Given the description of an element on the screen output the (x, y) to click on. 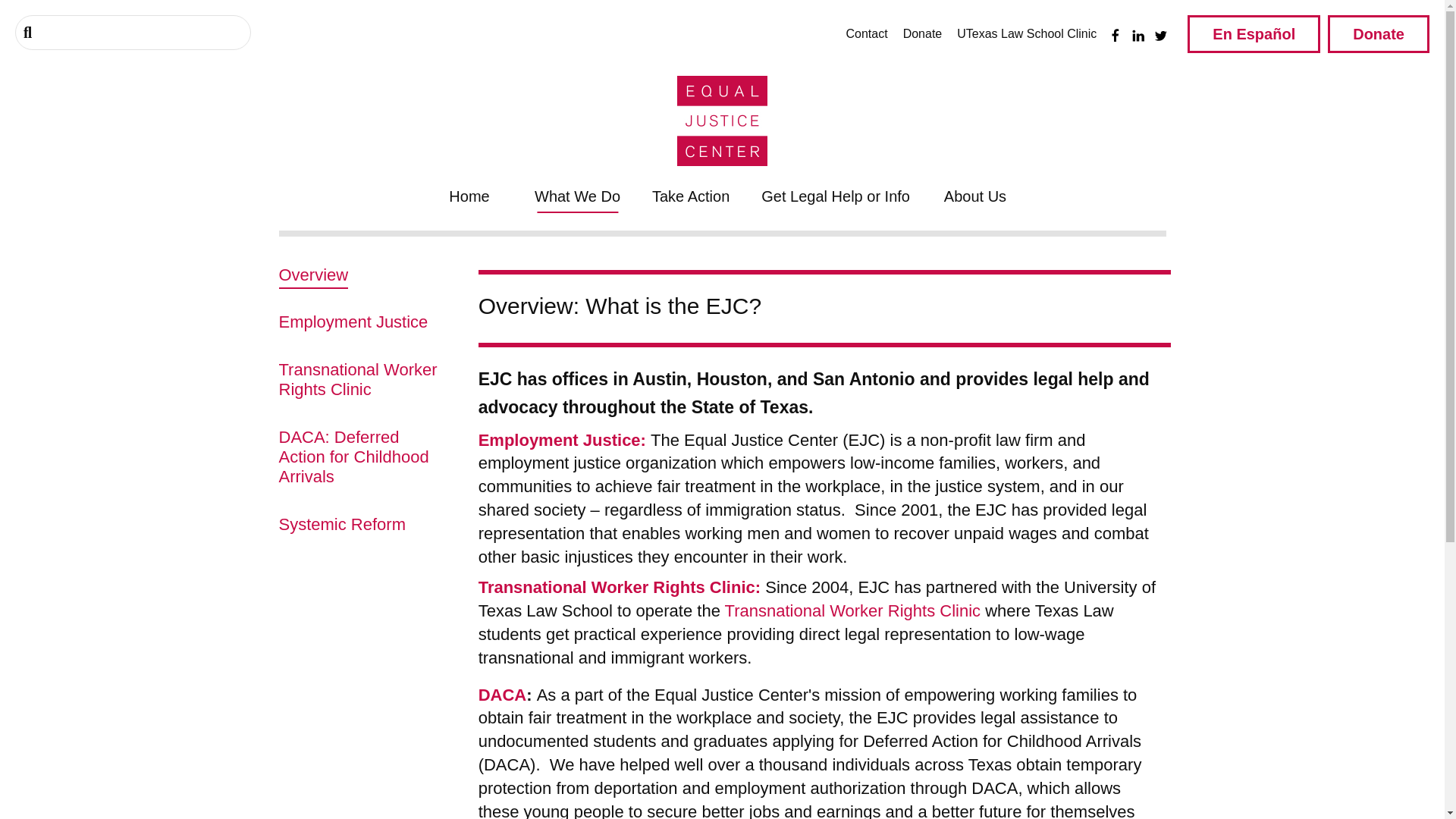
About Us (975, 196)
Home (469, 196)
Take Action (690, 196)
Donate (1378, 34)
Contact (865, 33)
UTexas Law School Clinic (1026, 33)
What We Do (577, 196)
Get Legal Help or Info (835, 196)
Donate (922, 33)
logo (722, 121)
